Given the description of an element on the screen output the (x, y) to click on. 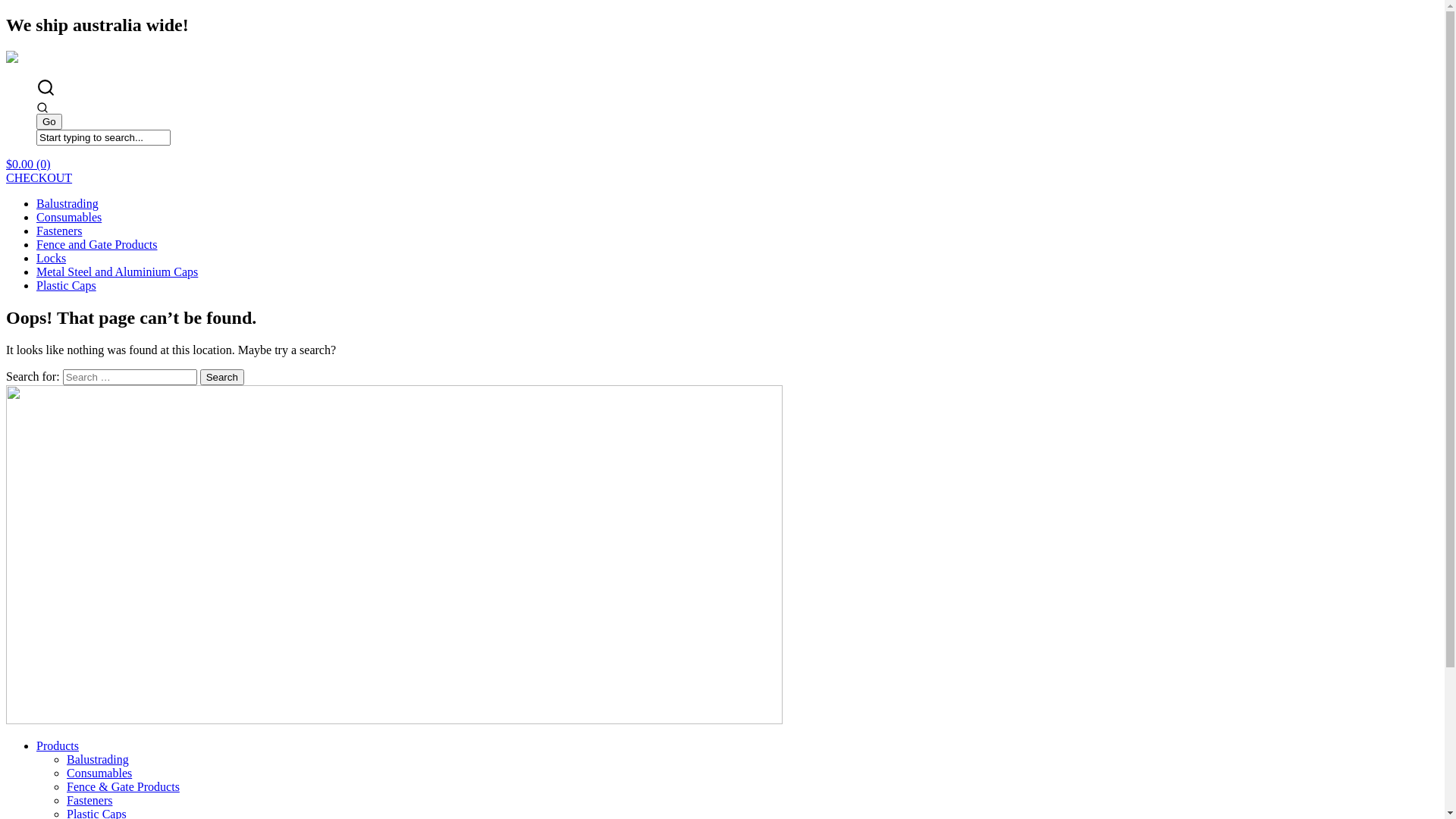
Consumables Element type: text (98, 772)
Consumables Element type: text (68, 216)
Fasteners Element type: text (89, 799)
Fence & Gate Products Element type: text (122, 786)
$0.00 (0) Element type: text (28, 163)
Plastic Caps Element type: text (66, 285)
Fasteners Element type: text (58, 230)
CHECKOUT Element type: text (39, 177)
Balustrading Element type: text (67, 203)
Products Element type: text (57, 745)
Balustrading Element type: text (97, 759)
Search Element type: text (222, 377)
Locks Element type: text (50, 257)
Metal Steel and Aluminium Caps Element type: text (116, 271)
Fence and Gate Products Element type: text (96, 244)
